Given the description of an element on the screen output the (x, y) to click on. 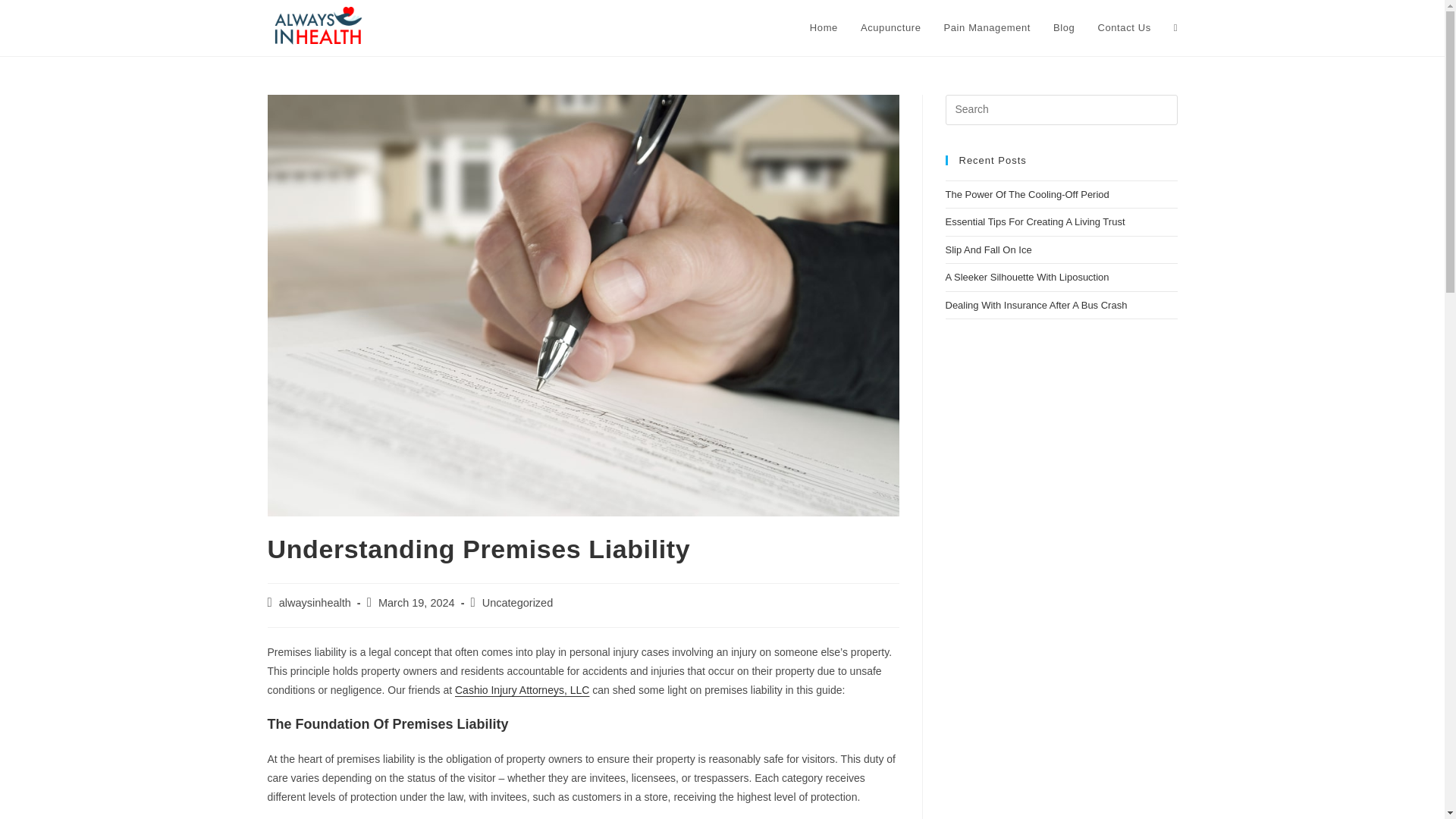
Slip And Fall On Ice (987, 249)
Cashio Injury Attorneys, LLC (521, 689)
Home (822, 28)
Essential Tips For Creating A Living Trust (1034, 221)
Contact Us (1123, 28)
Dealing With Insurance After A Bus Crash (1035, 305)
Acupuncture (890, 28)
The Power Of The Cooling-Off Period (1026, 194)
Uncategorized (517, 603)
alwaysinhealth (314, 603)
Posts by alwaysinhealth (314, 603)
A Sleeker Silhouette With Liposuction (1026, 276)
Pain Management (987, 28)
